Given the description of an element on the screen output the (x, y) to click on. 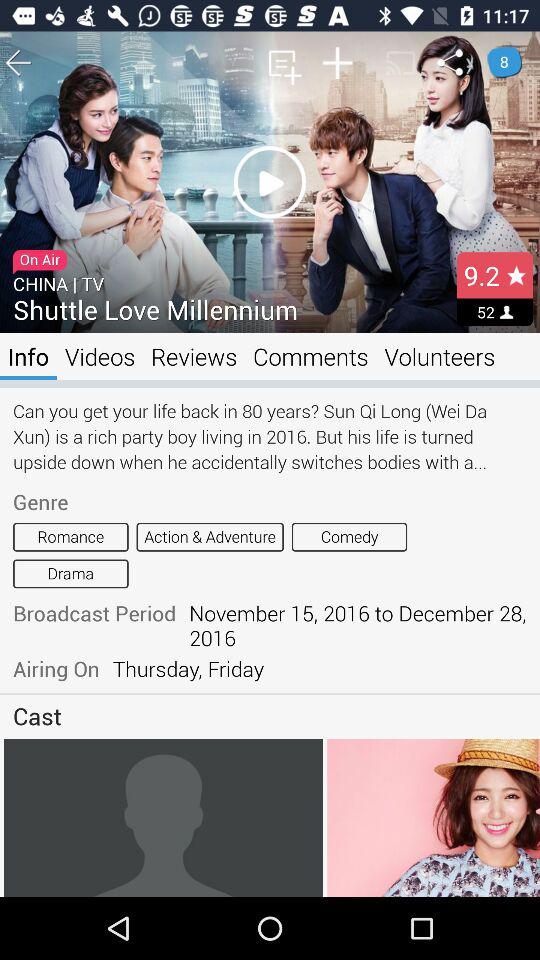
press the can you get item (269, 436)
